Given the description of an element on the screen output the (x, y) to click on. 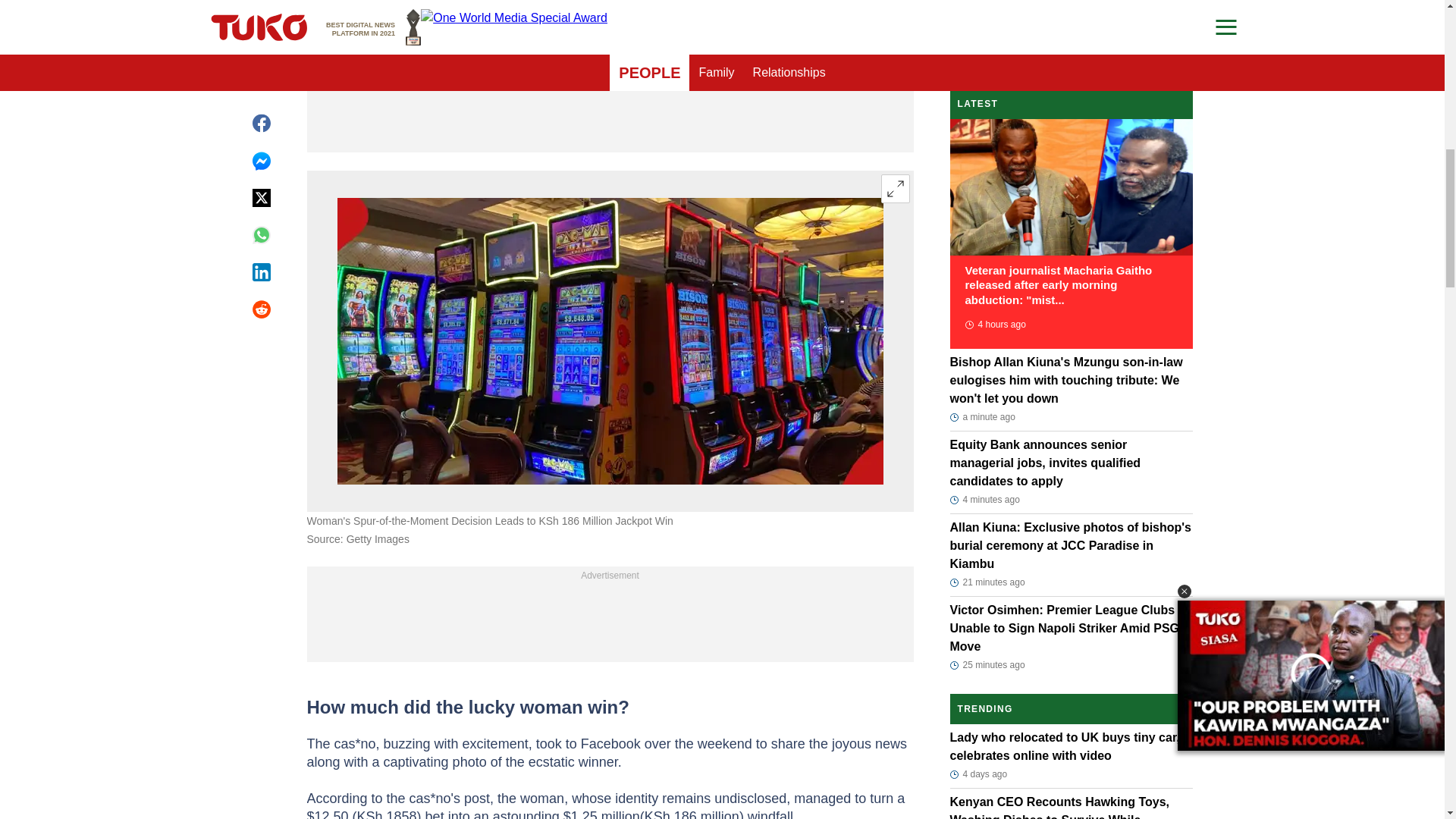
Expand image (895, 188)
